Given the description of an element on the screen output the (x, y) to click on. 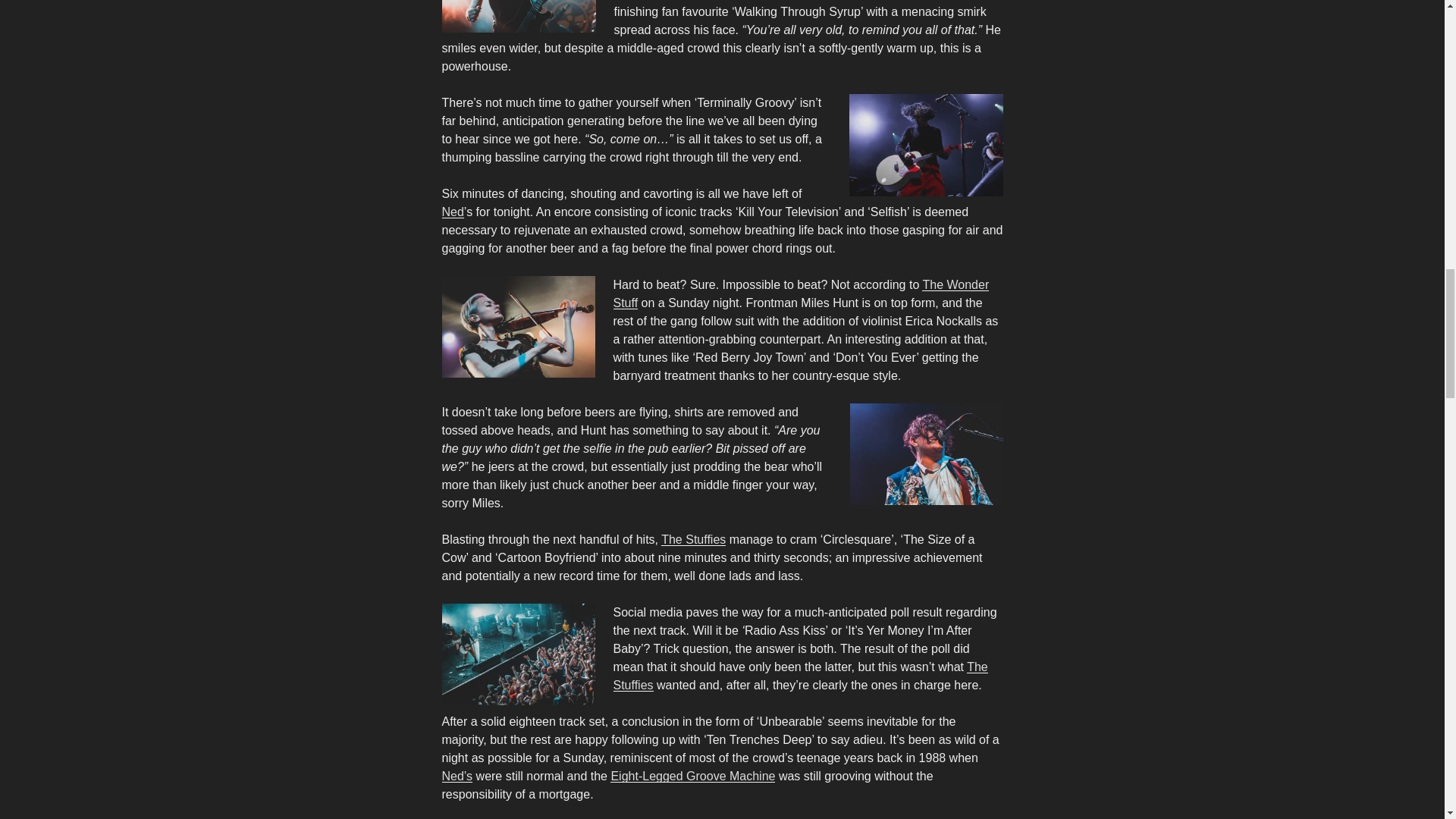
The Wonder Stuff (800, 293)
Ned (452, 211)
Eight-Legged Groove Machine (692, 775)
The Stuffies (693, 539)
The Stuffies (799, 675)
